Given the description of an element on the screen output the (x, y) to click on. 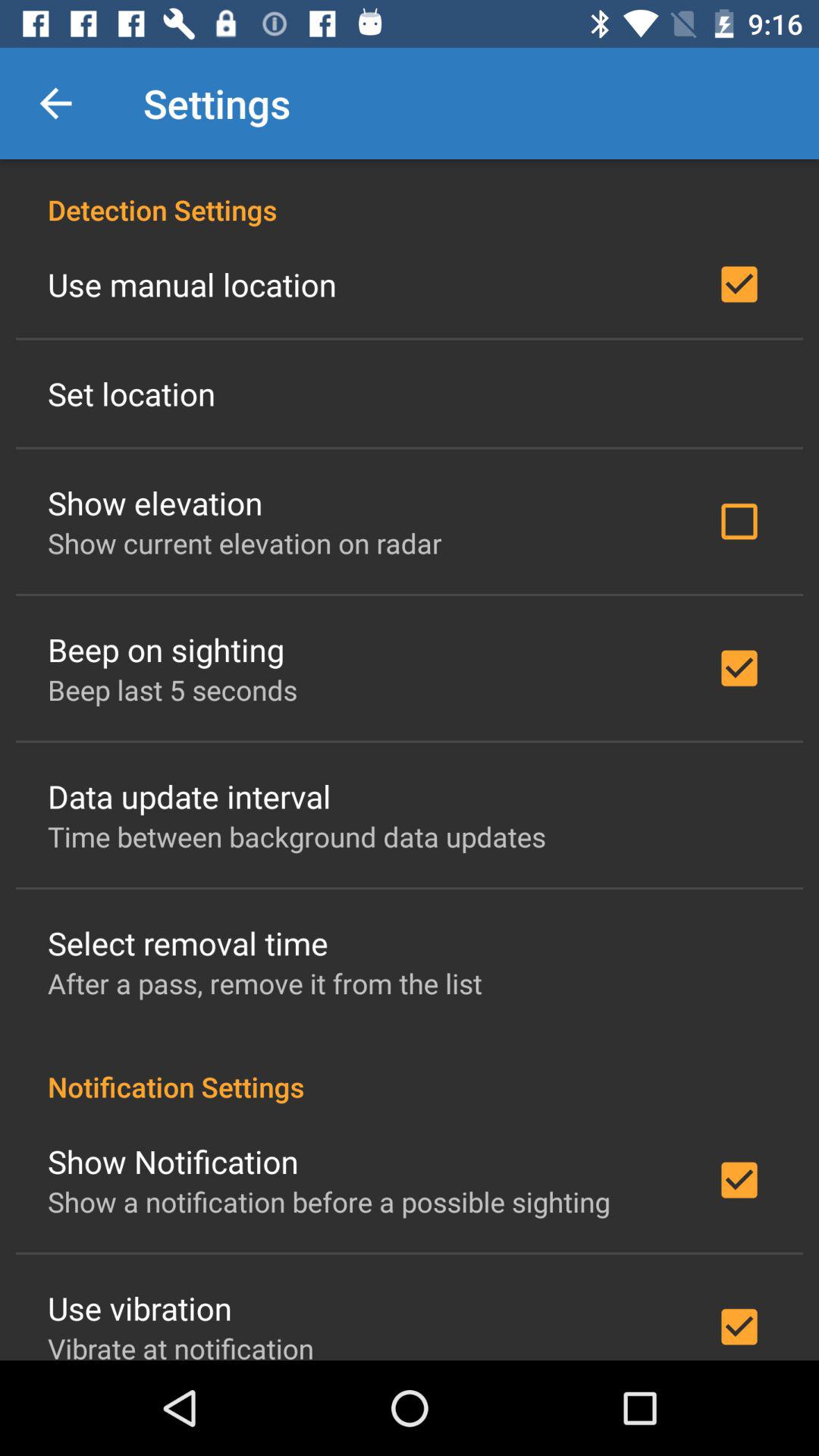
choose item next to the settings icon (55, 103)
